Given the description of an element on the screen output the (x, y) to click on. 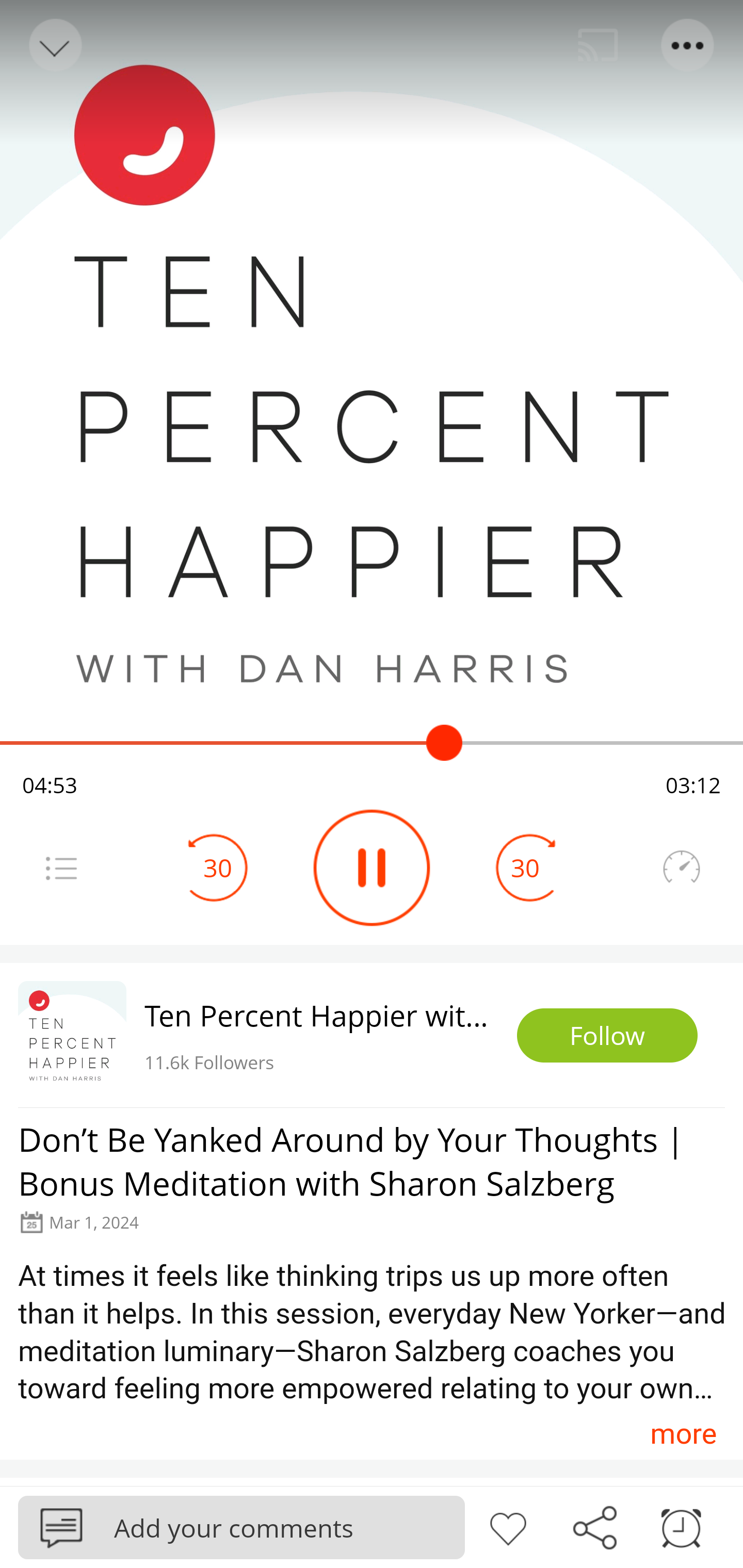
Back (53, 45)
Cast. Disconnected (597, 45)
Menu (688, 45)
Play (371, 867)
30 Seek Backward (217, 867)
30 Seek Forward (525, 867)
Menu (60, 867)
Speedometer (681, 867)
Follow (607, 1035)
more (682, 1432)
Like (508, 1526)
Share (594, 1526)
Sleep timer (681, 1526)
Podbean Add your comments (241, 1526)
